Given the description of an element on the screen output the (x, y) to click on. 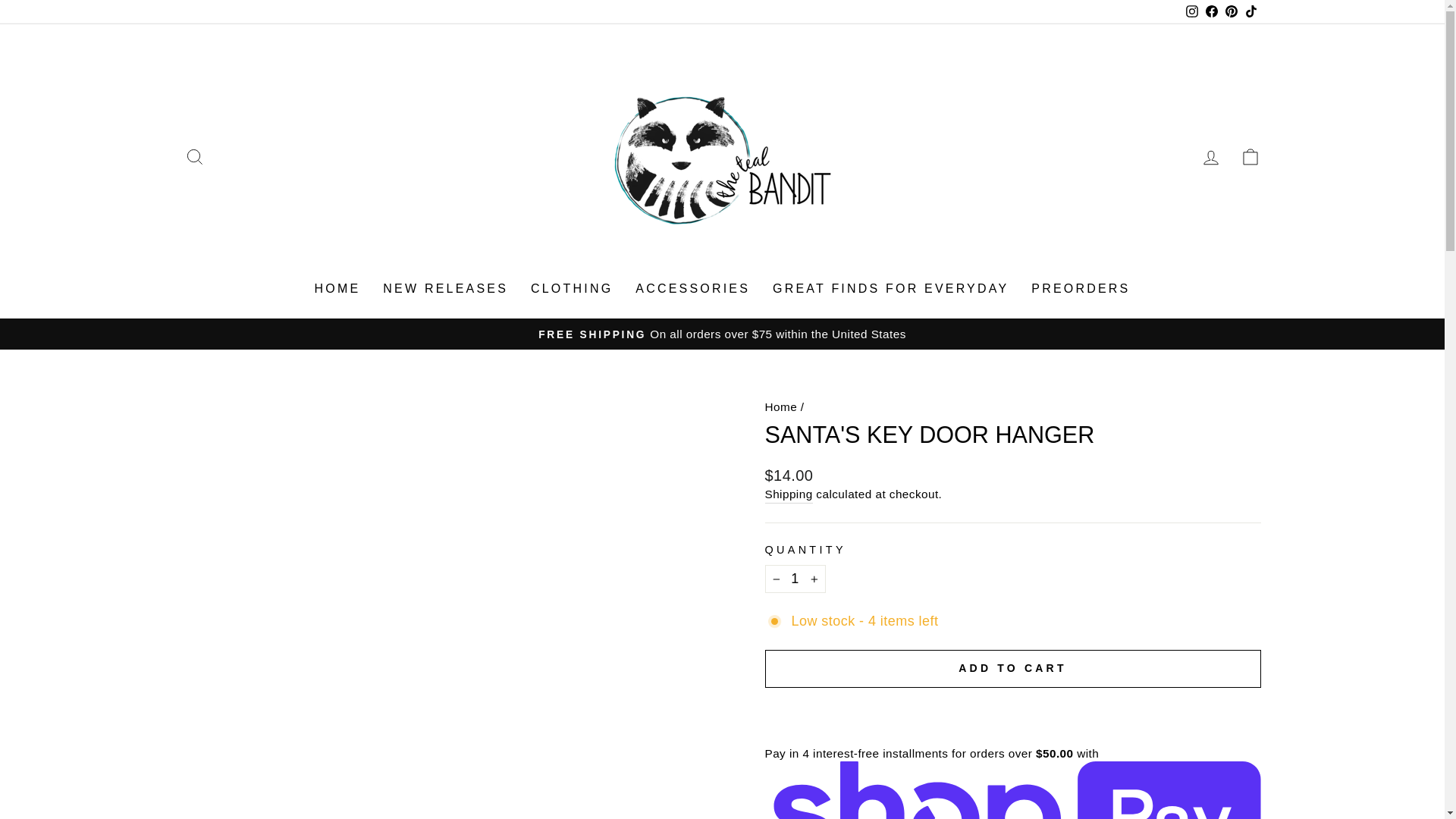
1 (794, 578)
Back to the frontpage (780, 406)
